Given the description of an element on the screen output the (x, y) to click on. 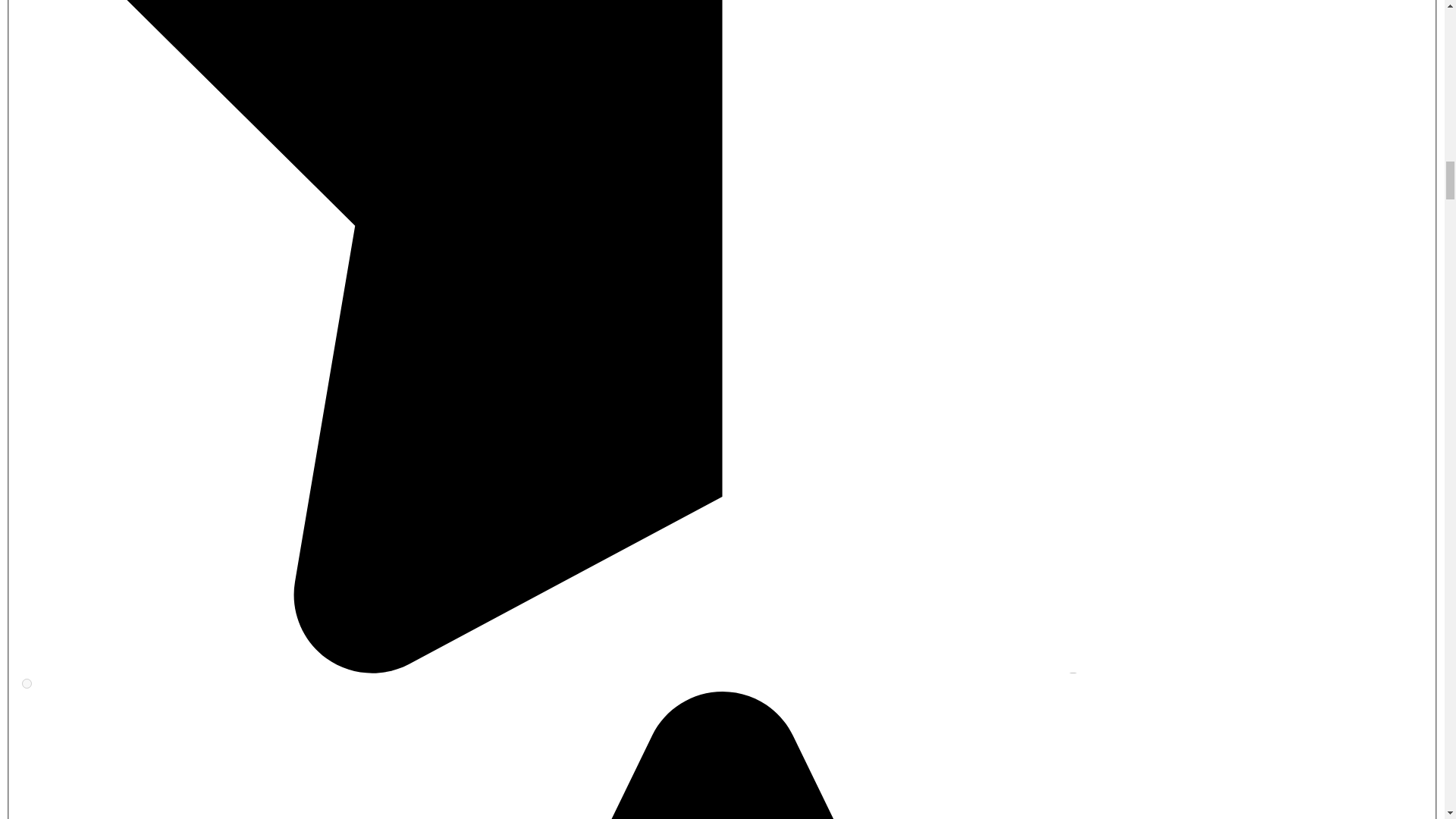
4 (26, 683)
